Given the description of an element on the screen output the (x, y) to click on. 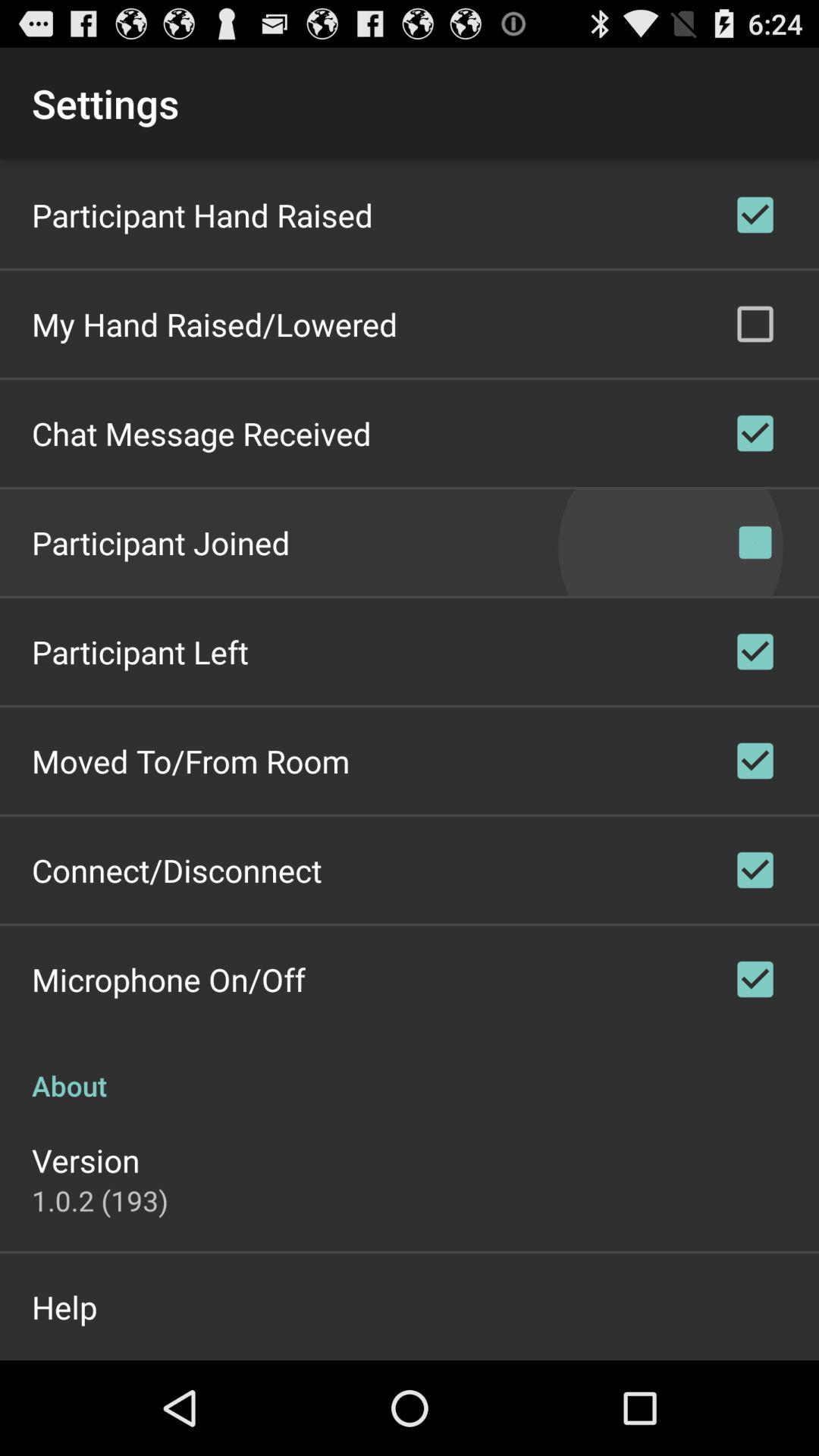
tap icon above microphone on/off icon (176, 869)
